Given the description of an element on the screen output the (x, y) to click on. 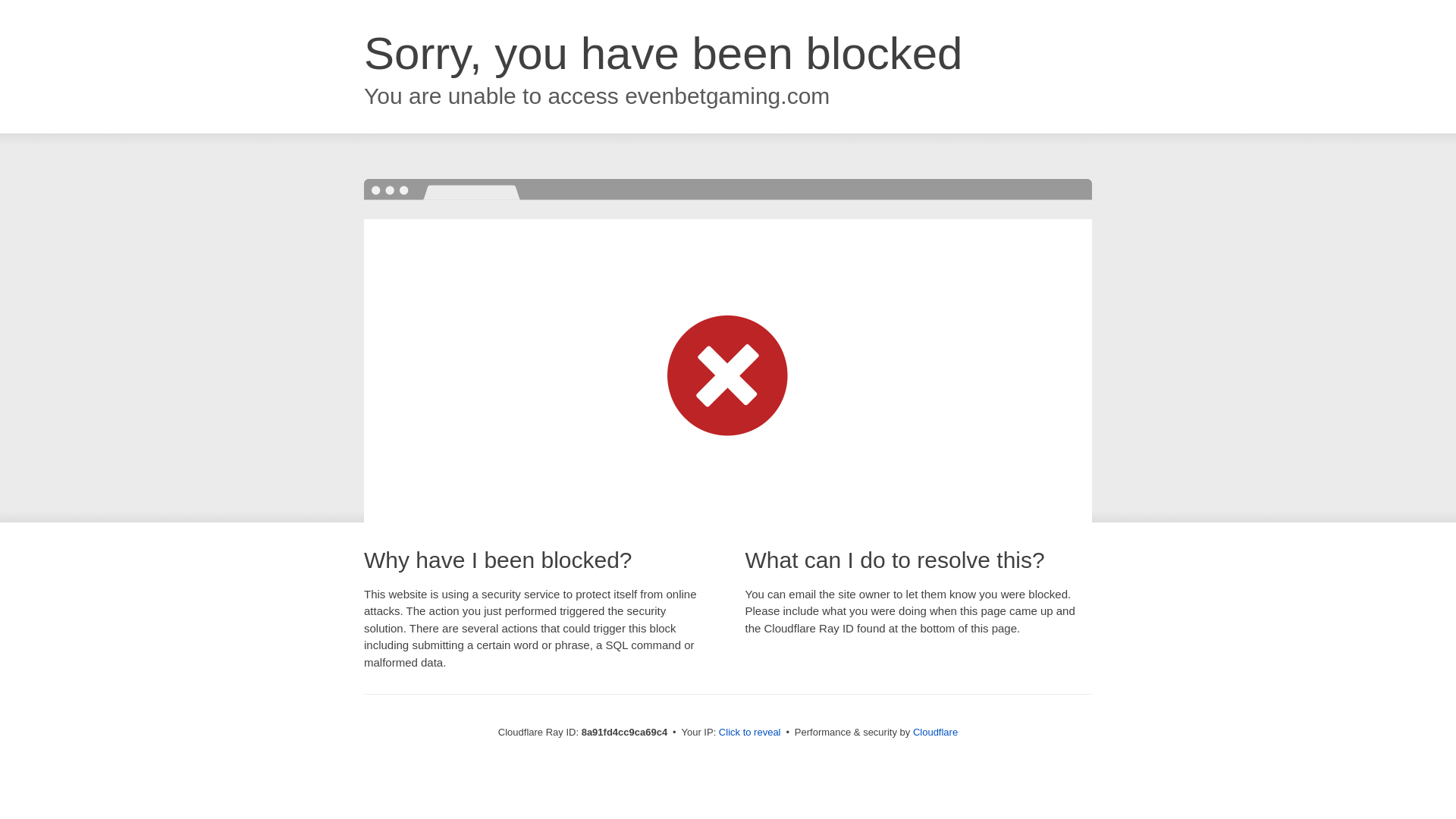
Click to reveal (749, 732)
Cloudflare (935, 731)
